Given the description of an element on the screen output the (x, y) to click on. 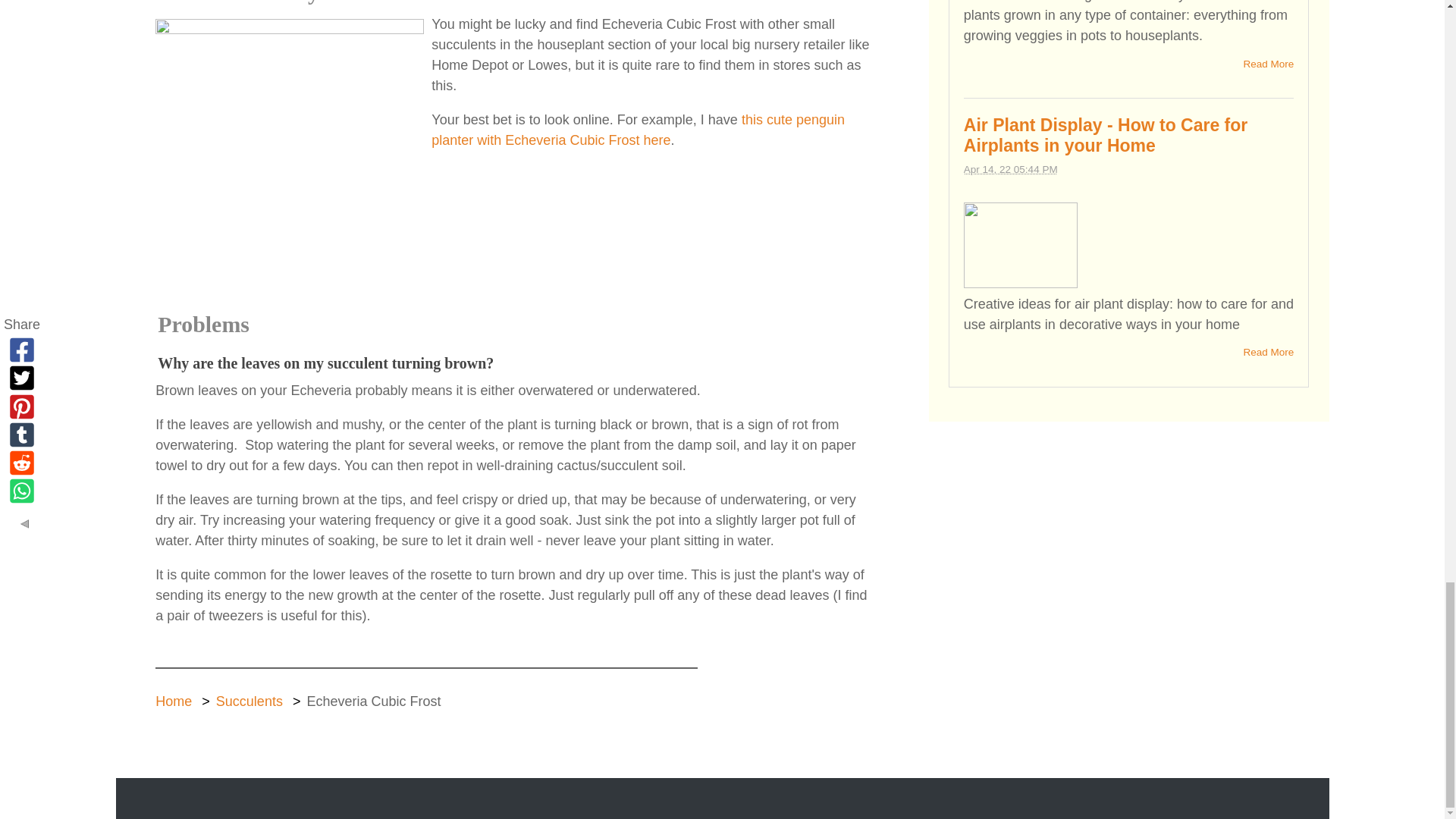
Home (173, 701)
Succulents (248, 701)
this cute penguin planter with Echeveria Cubic Frost here (637, 130)
2022-04-14T17:44:18-0400 (1010, 169)
